Given the description of an element on the screen output the (x, y) to click on. 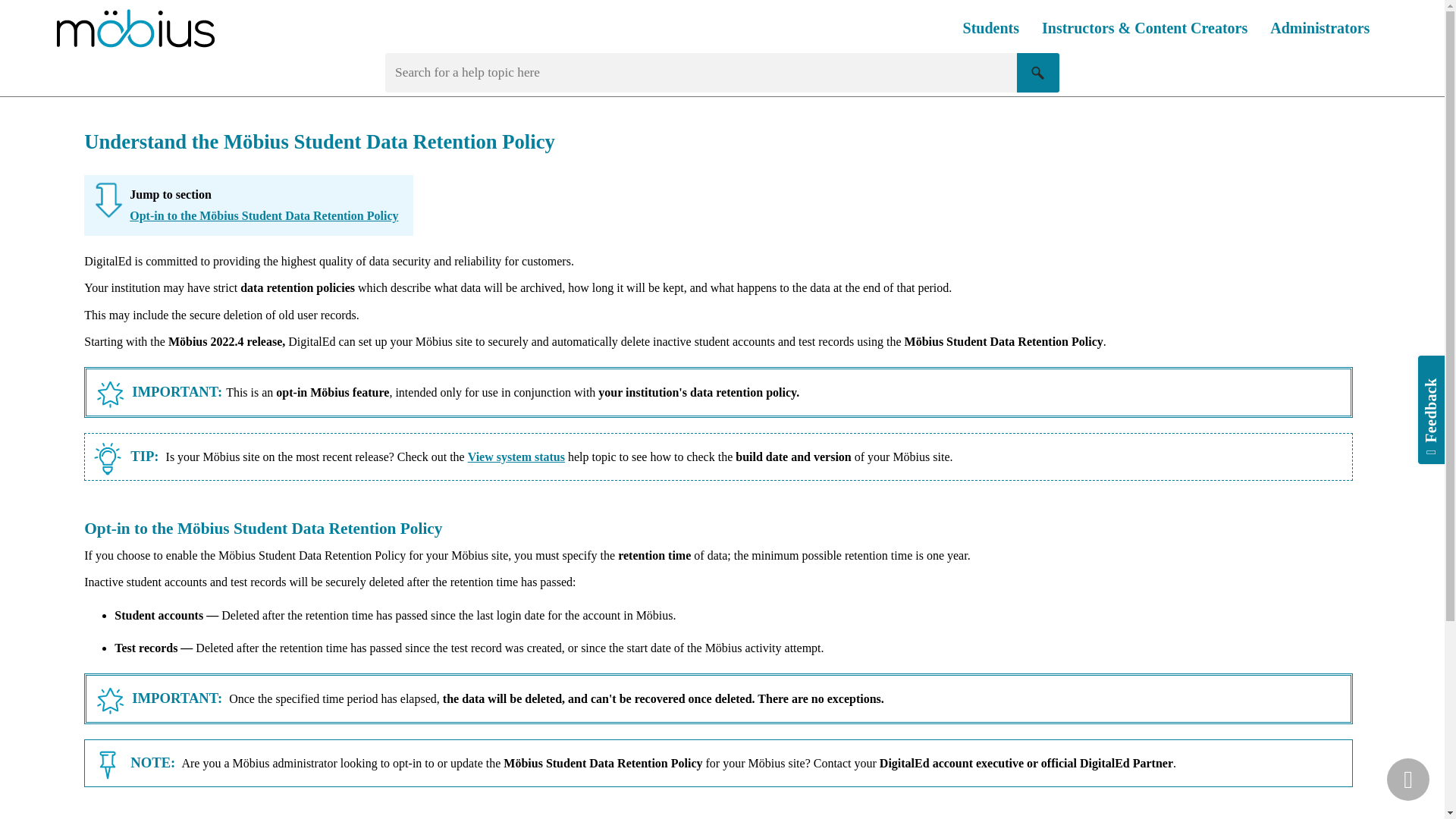
Students (991, 28)
Administrators (1319, 28)
Search (1037, 72)
Top (1408, 779)
View system status (515, 456)
